Given the description of an element on the screen output the (x, y) to click on. 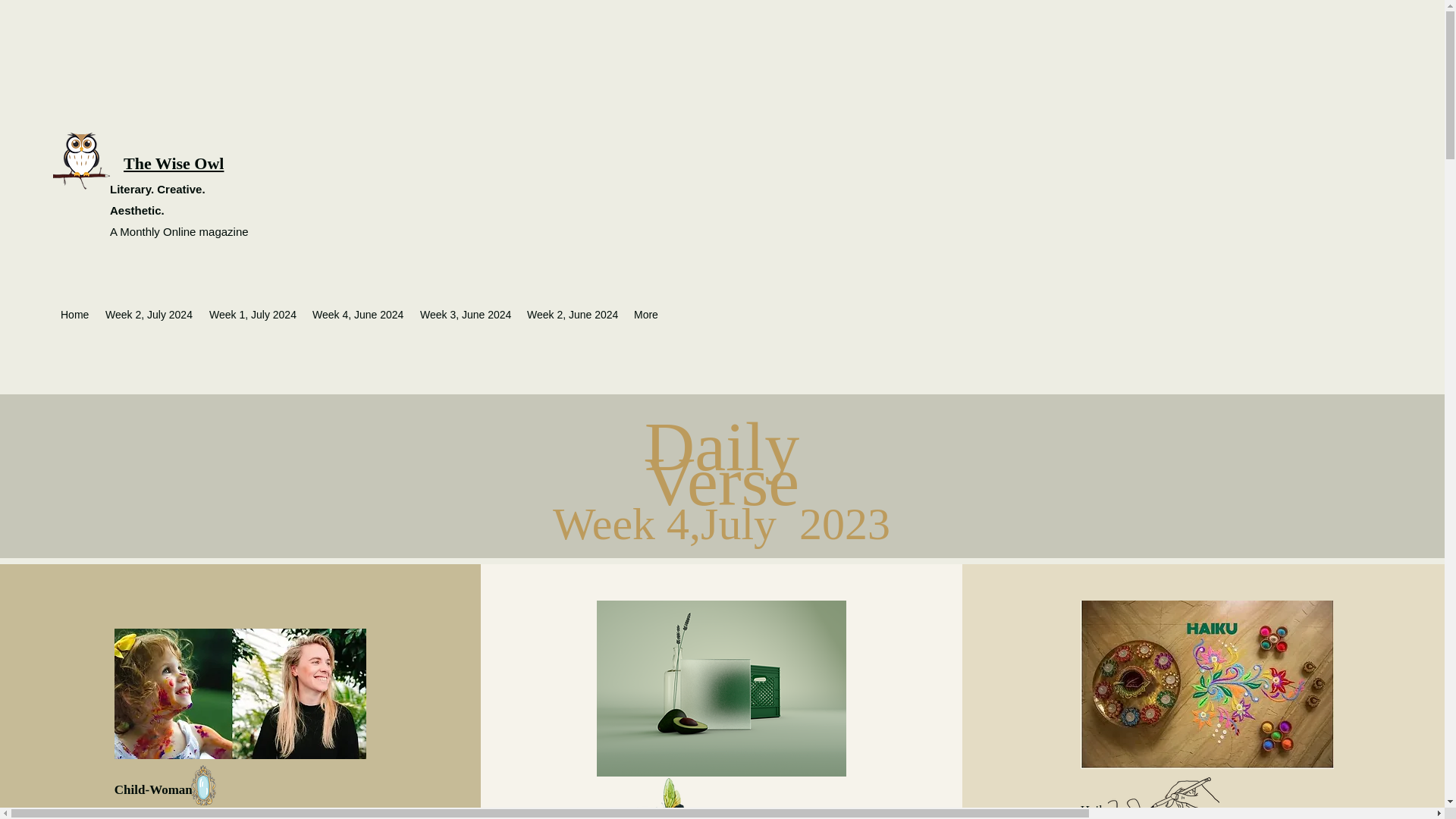
Week 3, June 2024 (465, 314)
Week 4, June 2024 (358, 314)
Week 2, June 2024 (572, 314)
Week 2, July 2024 (149, 314)
Home (74, 314)
Week 1, July 2024 (253, 314)
The Wise Owl (173, 162)
